Given the description of an element on the screen output the (x, y) to click on. 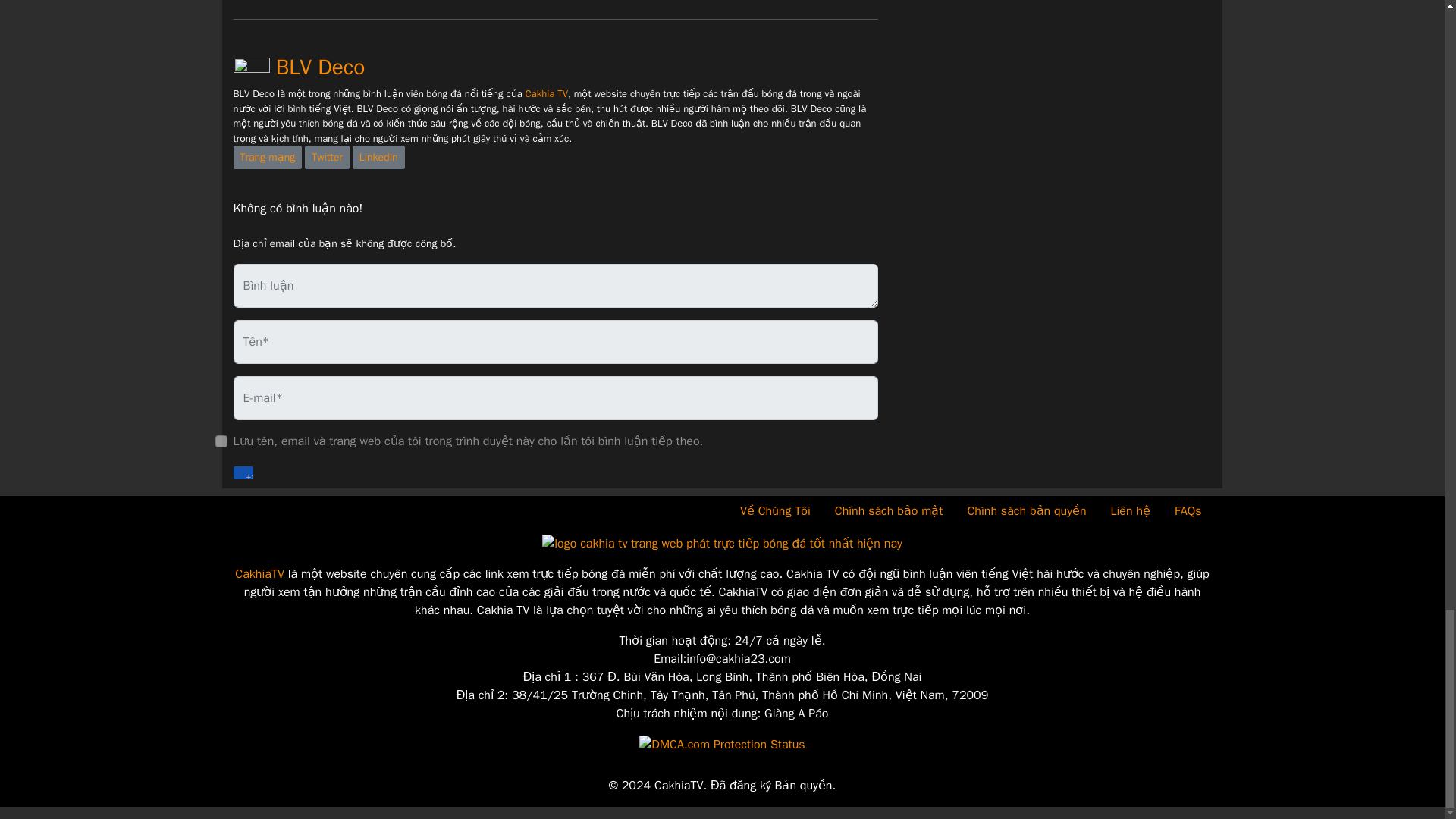
Twitter (326, 156)
Cakhia TV (546, 92)
yes (221, 440)
LinkedIn (378, 156)
Twitter (326, 156)
LinkedIn (378, 156)
 BLV Deco (298, 67)
DMCA.com Protection Status (722, 743)
